Given the description of an element on the screen output the (x, y) to click on. 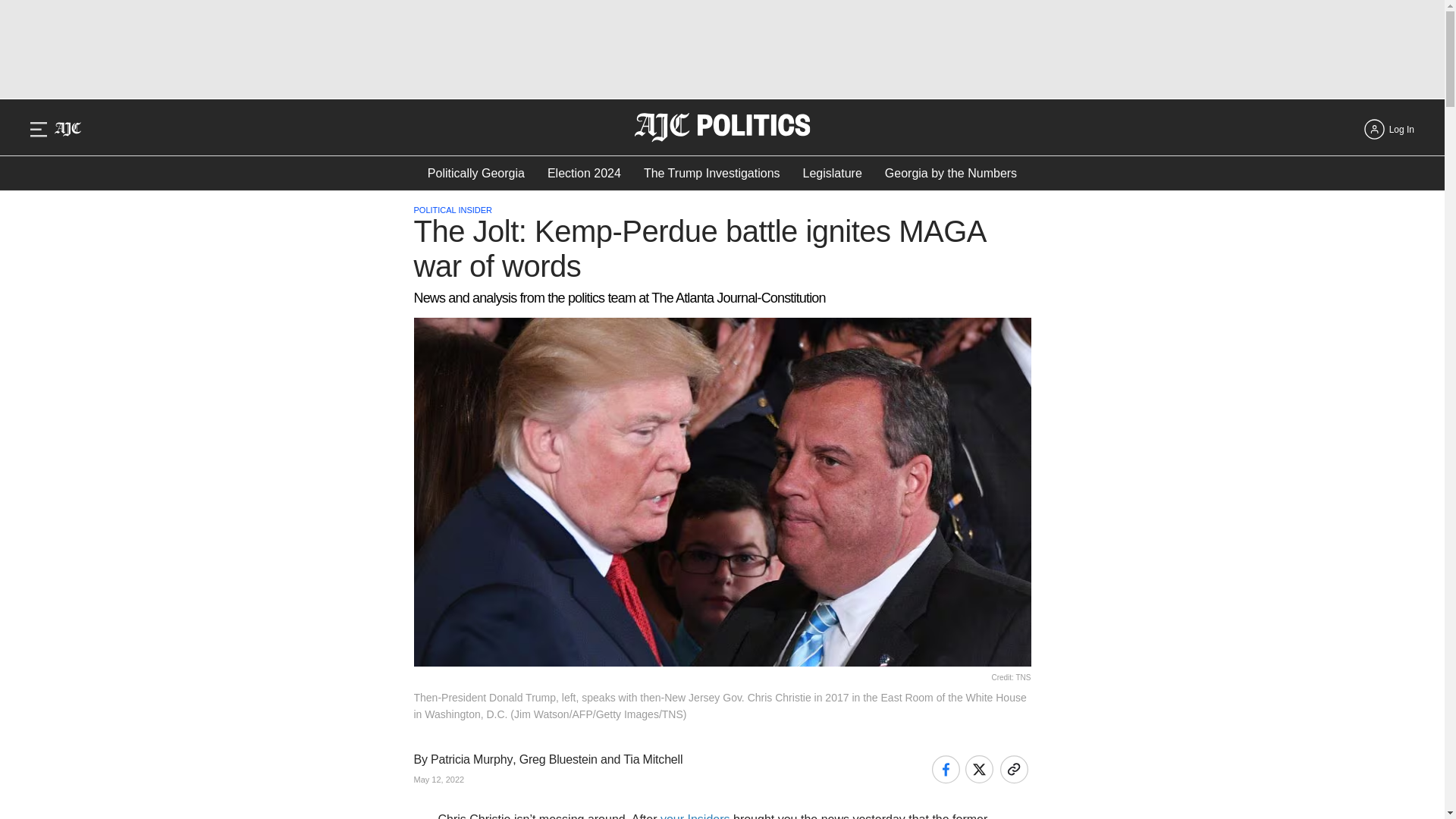
Legislature (832, 173)
The Trump Investigations (711, 173)
Georgia by the Numbers (950, 173)
Election 2024 (584, 173)
Politically Georgia (476, 173)
